Given the description of an element on the screen output the (x, y) to click on. 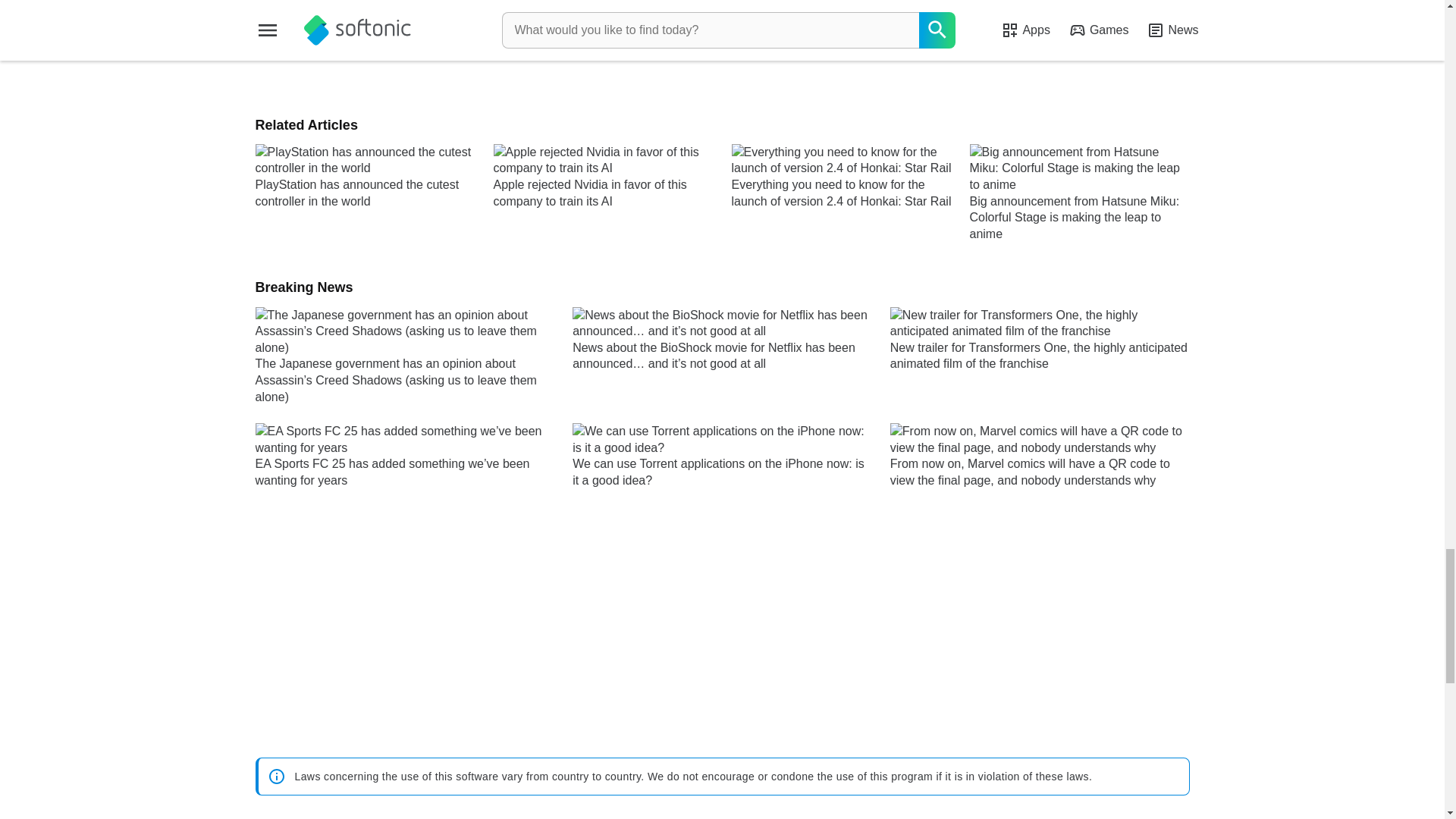
PlayStation has announced the cutest controller in the world (364, 193)
